Given the description of an element on the screen output the (x, y) to click on. 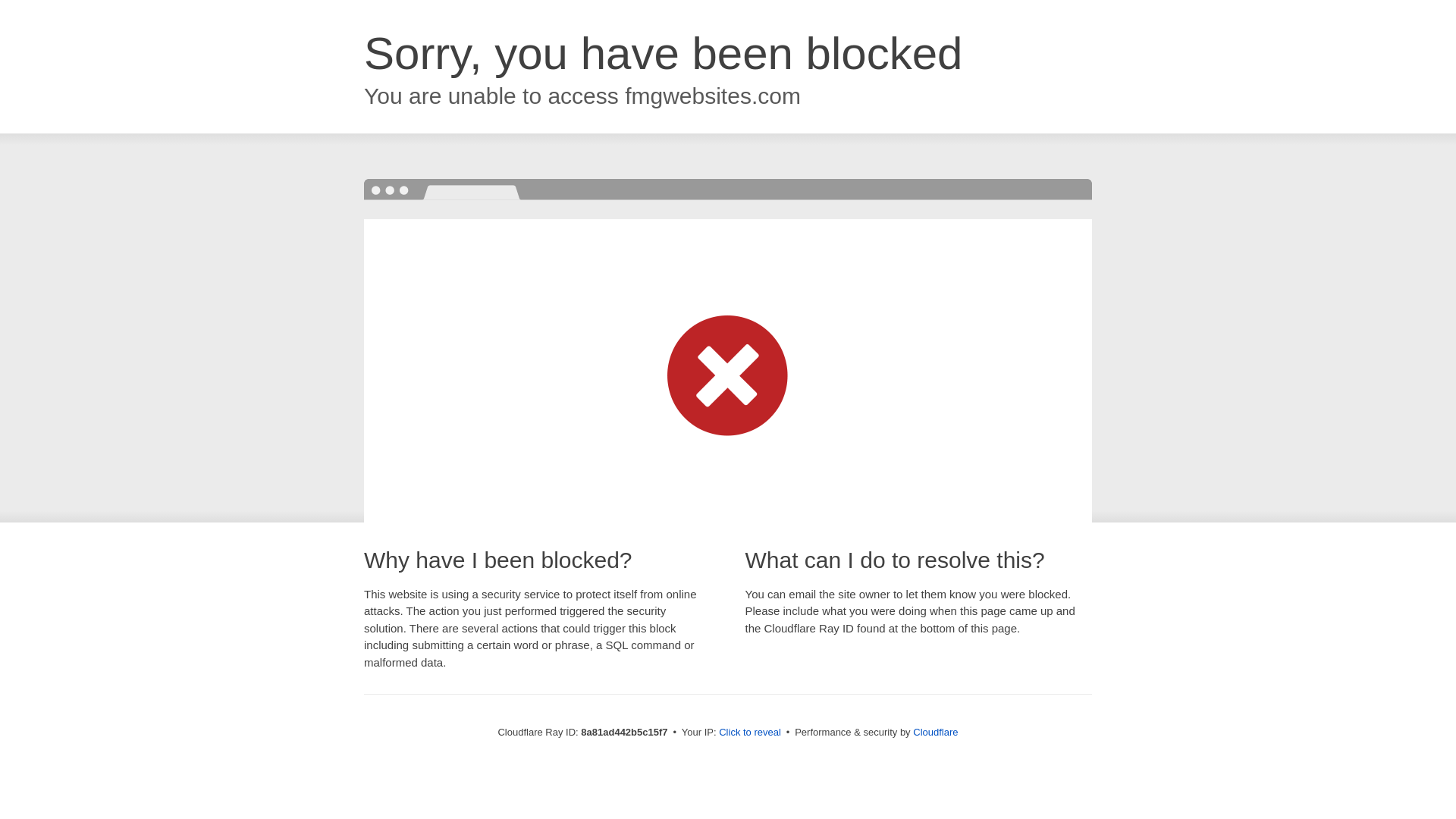
Click to reveal (749, 732)
Cloudflare (935, 731)
